Given the description of an element on the screen output the (x, y) to click on. 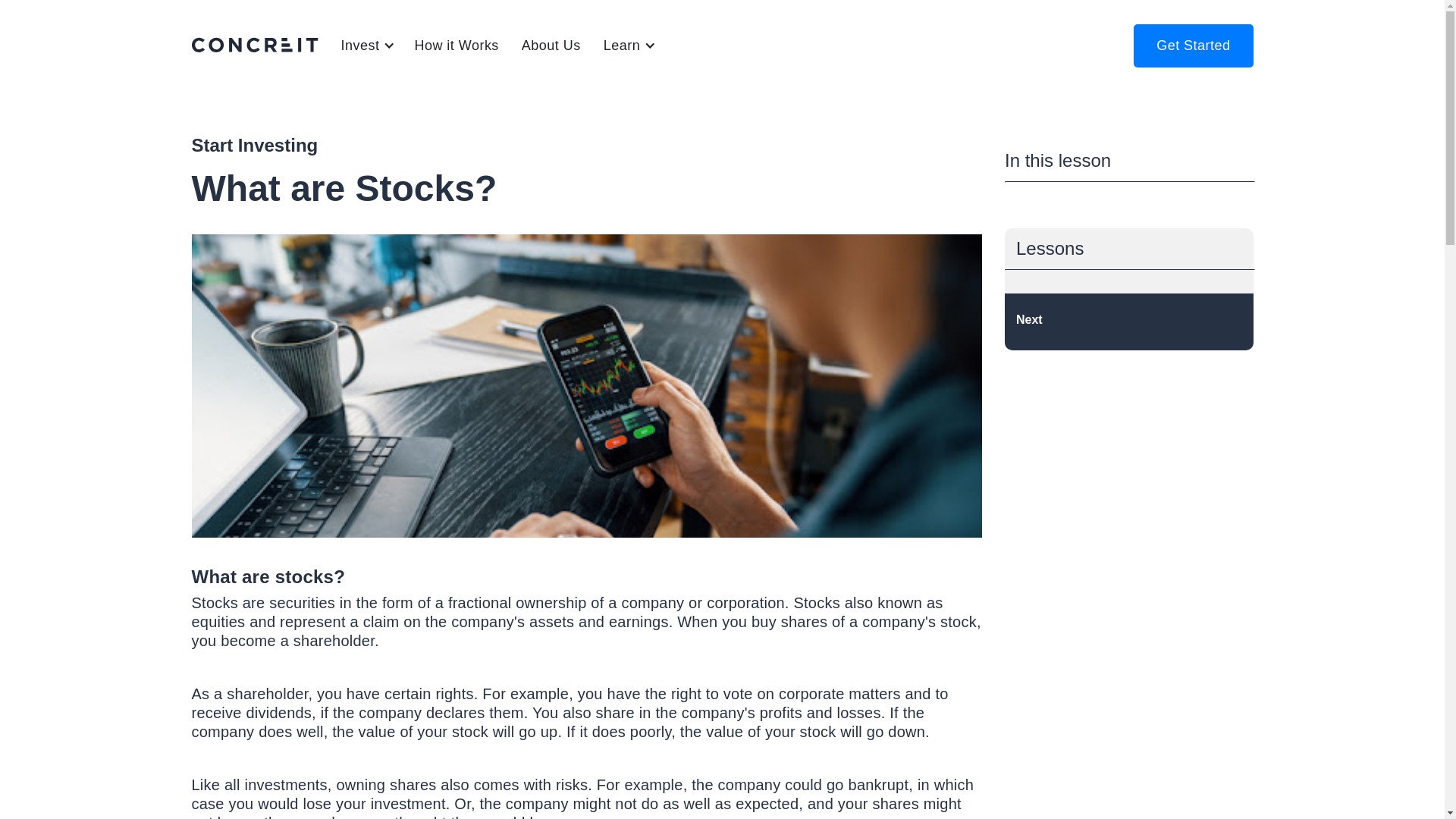
Next (1128, 321)
How it Works (455, 45)
Get Started (1193, 45)
About Us (550, 45)
